Given the description of an element on the screen output the (x, y) to click on. 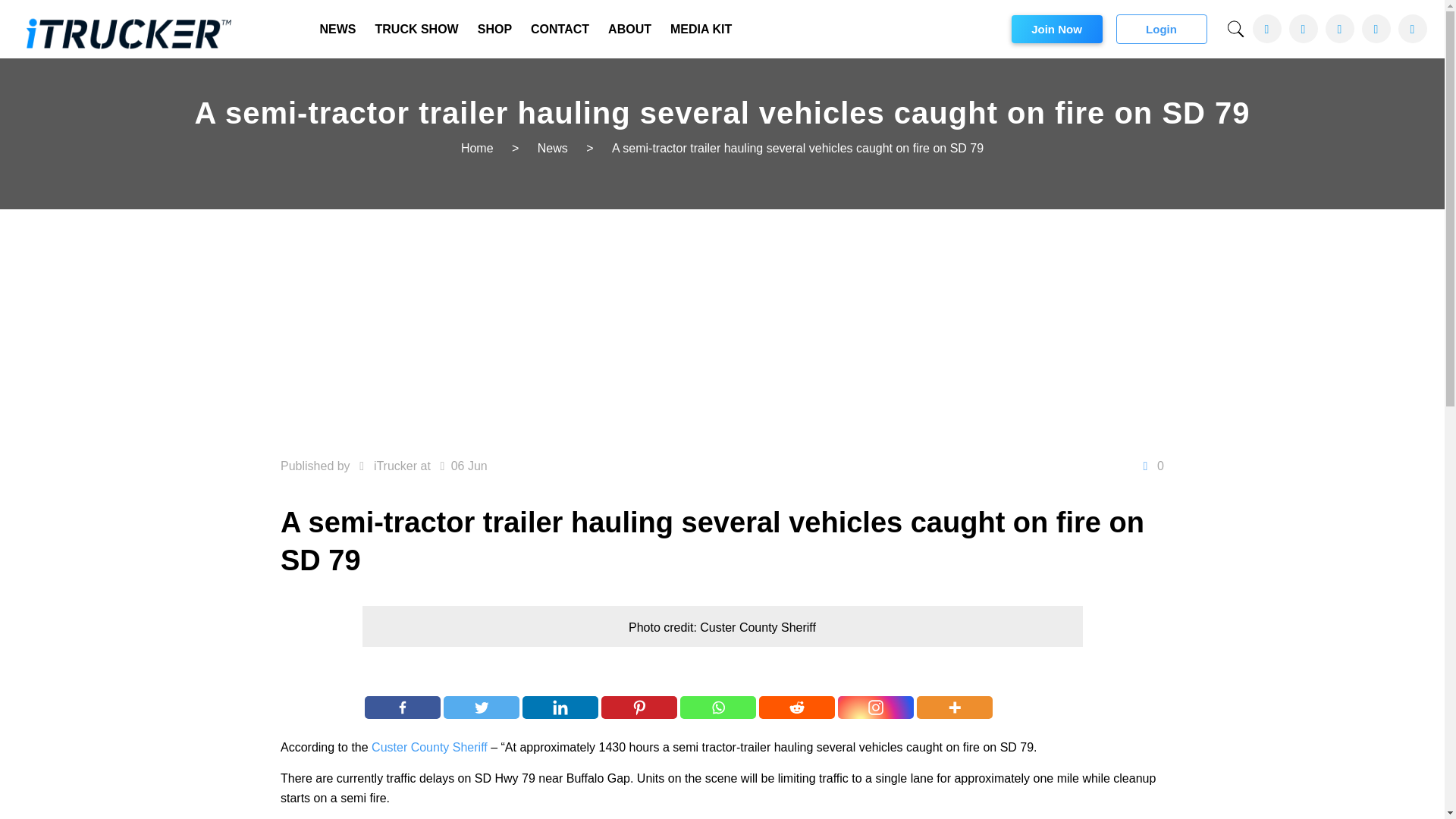
Instagram (1412, 29)
Instagram (876, 707)
0 (1150, 465)
Custer County Sheriff (429, 747)
Twitter (481, 707)
LinkedIn (1375, 29)
News (552, 147)
More (954, 707)
Reddit (796, 707)
Home (477, 147)
